Given the description of an element on the screen output the (x, y) to click on. 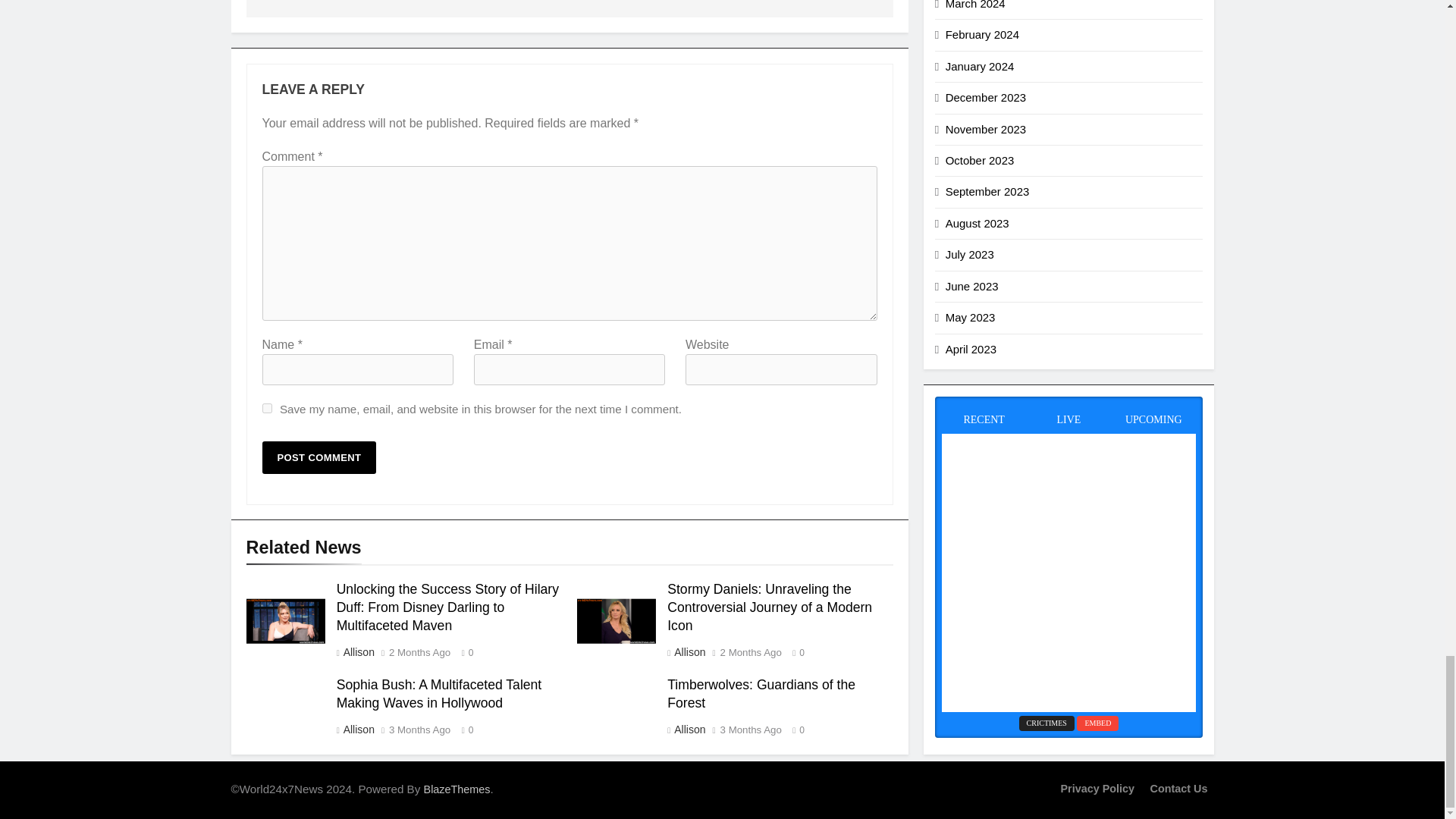
Post Comment (319, 457)
yes (267, 408)
